Given the description of an element on the screen output the (x, y) to click on. 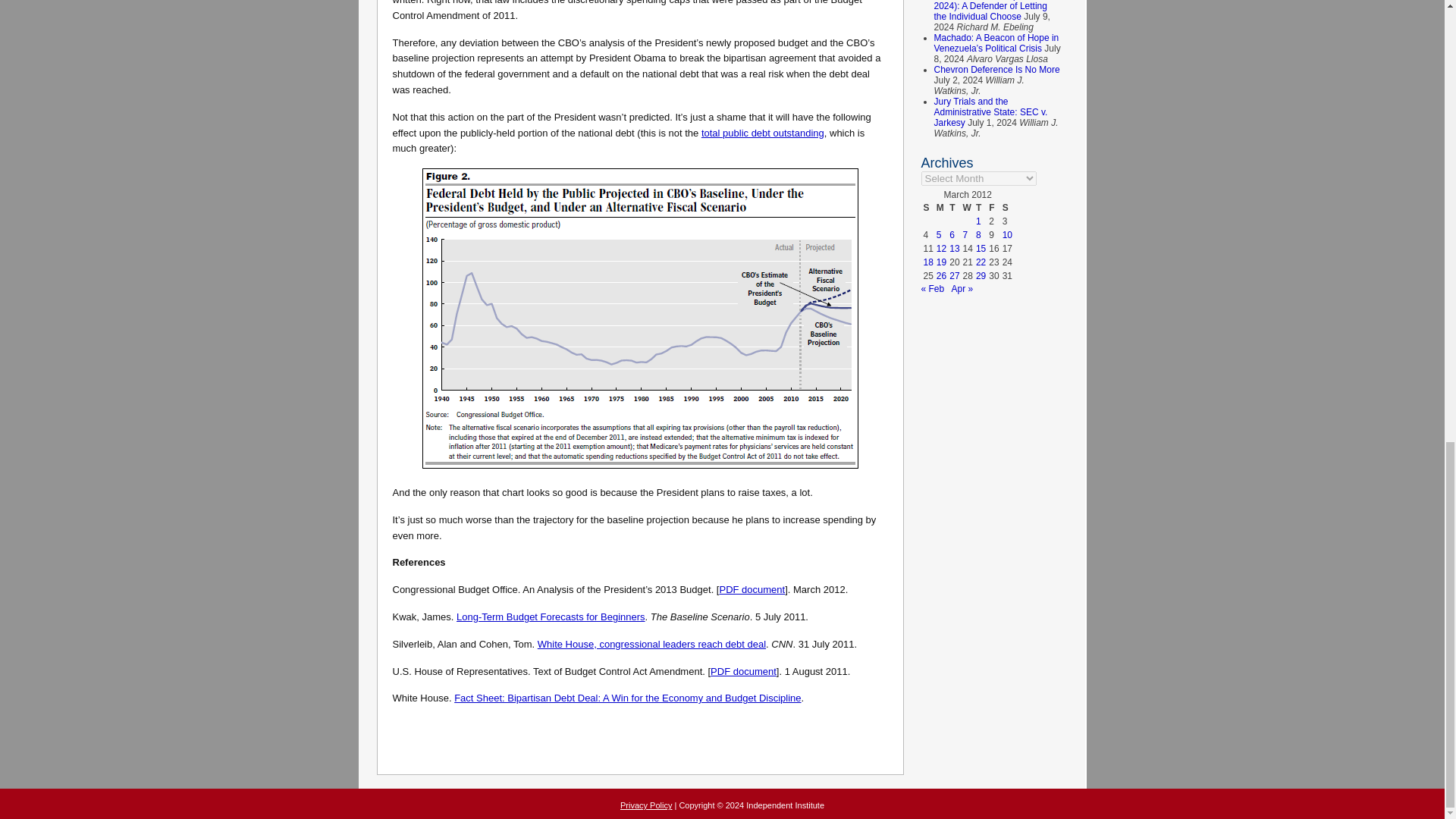
Long-Term Budget Forecasts for Beginners (551, 616)
Friday (993, 207)
Wednesday (968, 207)
Tuesday (954, 207)
PDF document (751, 589)
Thursday (981, 207)
PDF document (743, 670)
Sunday (927, 207)
Monday (941, 207)
cbo-analysis-effect-on-national-debt (640, 318)
Saturday (1007, 207)
White House, congressional leaders reach debt deal (651, 644)
total public debt outstanding (762, 132)
